Given the description of an element on the screen output the (x, y) to click on. 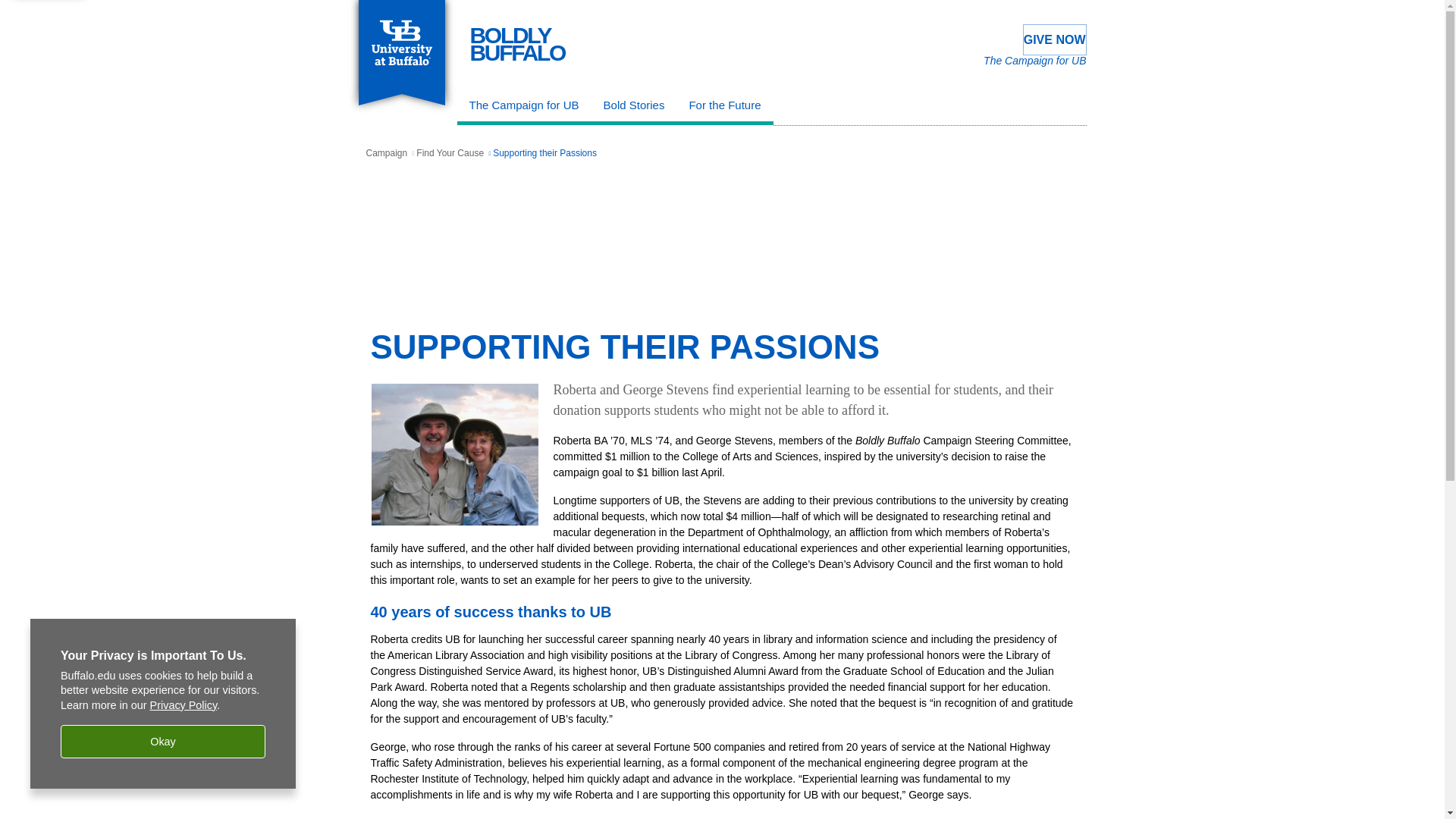
Campaign (386, 153)
Bold Stories (518, 43)
GIVE NOW (634, 107)
Find Your Cause (1054, 39)
The Campaign for UB (449, 153)
For the Future (524, 107)
